Given the description of an element on the screen output the (x, y) to click on. 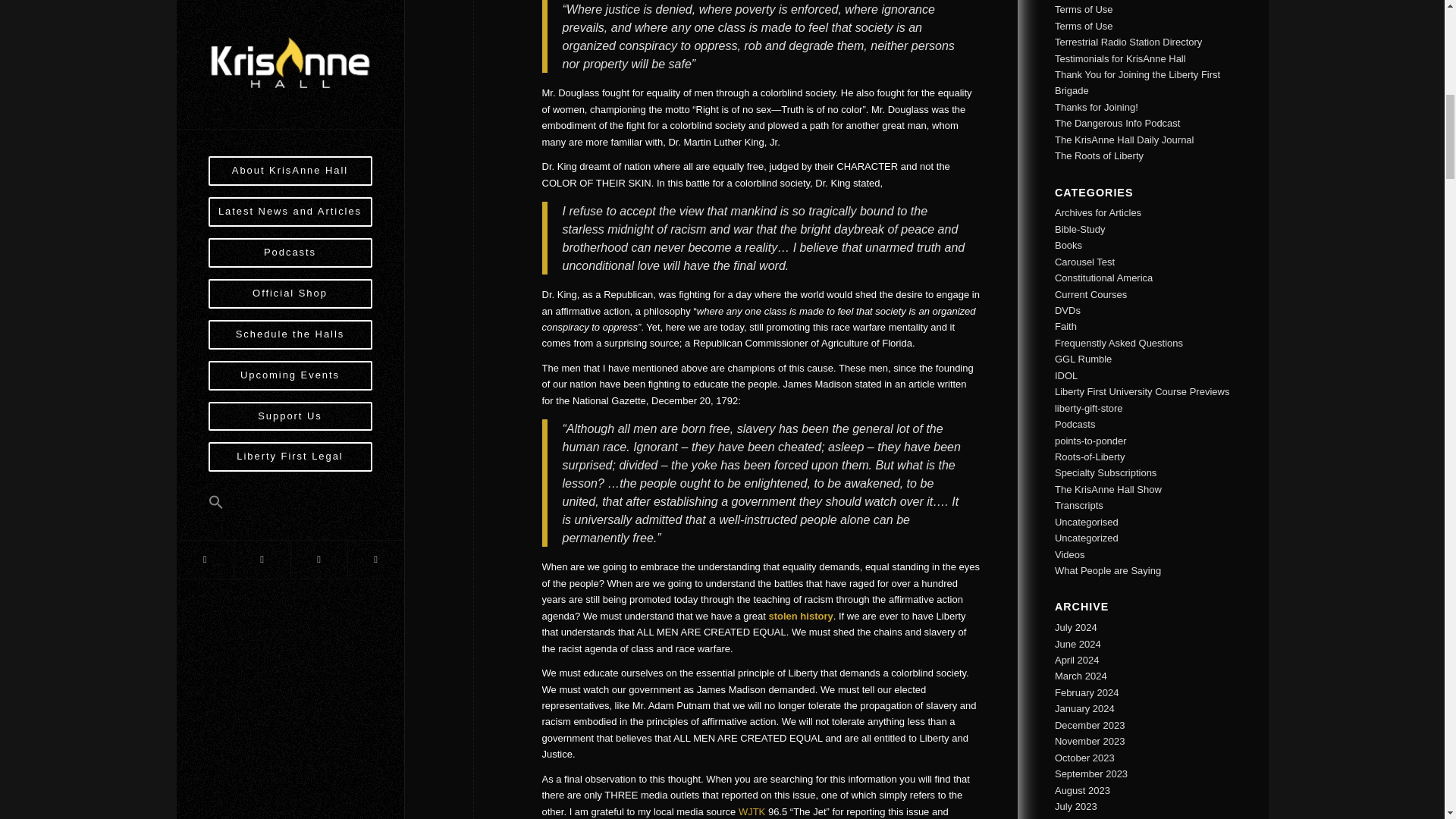
stolen history (800, 615)
WJTK (751, 811)
